Given the description of an element on the screen output the (x, y) to click on. 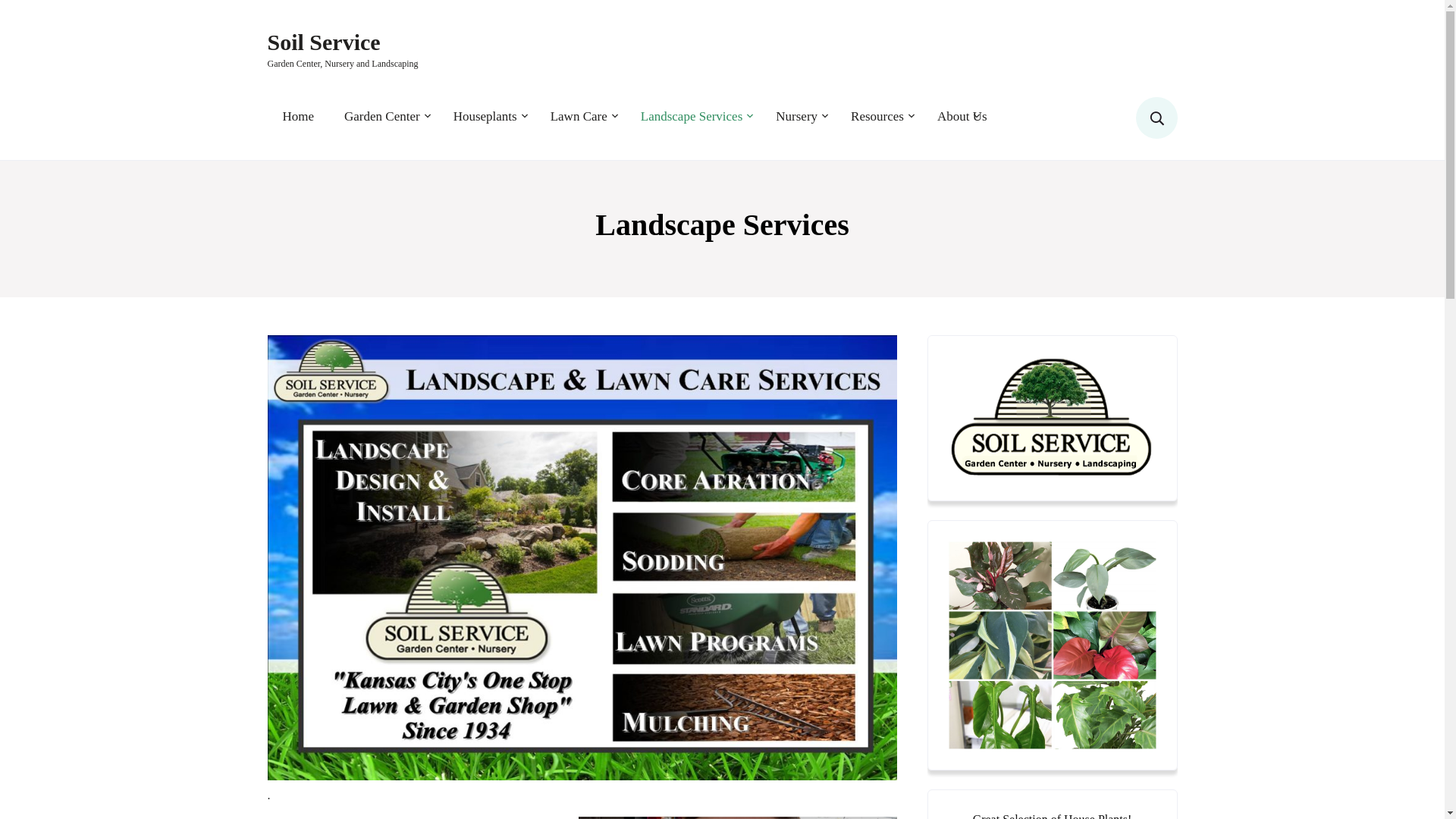
Houseplants (486, 115)
Garden Center (341, 49)
Landscape Services (383, 115)
Lawn Care (693, 115)
